Given the description of an element on the screen output the (x, y) to click on. 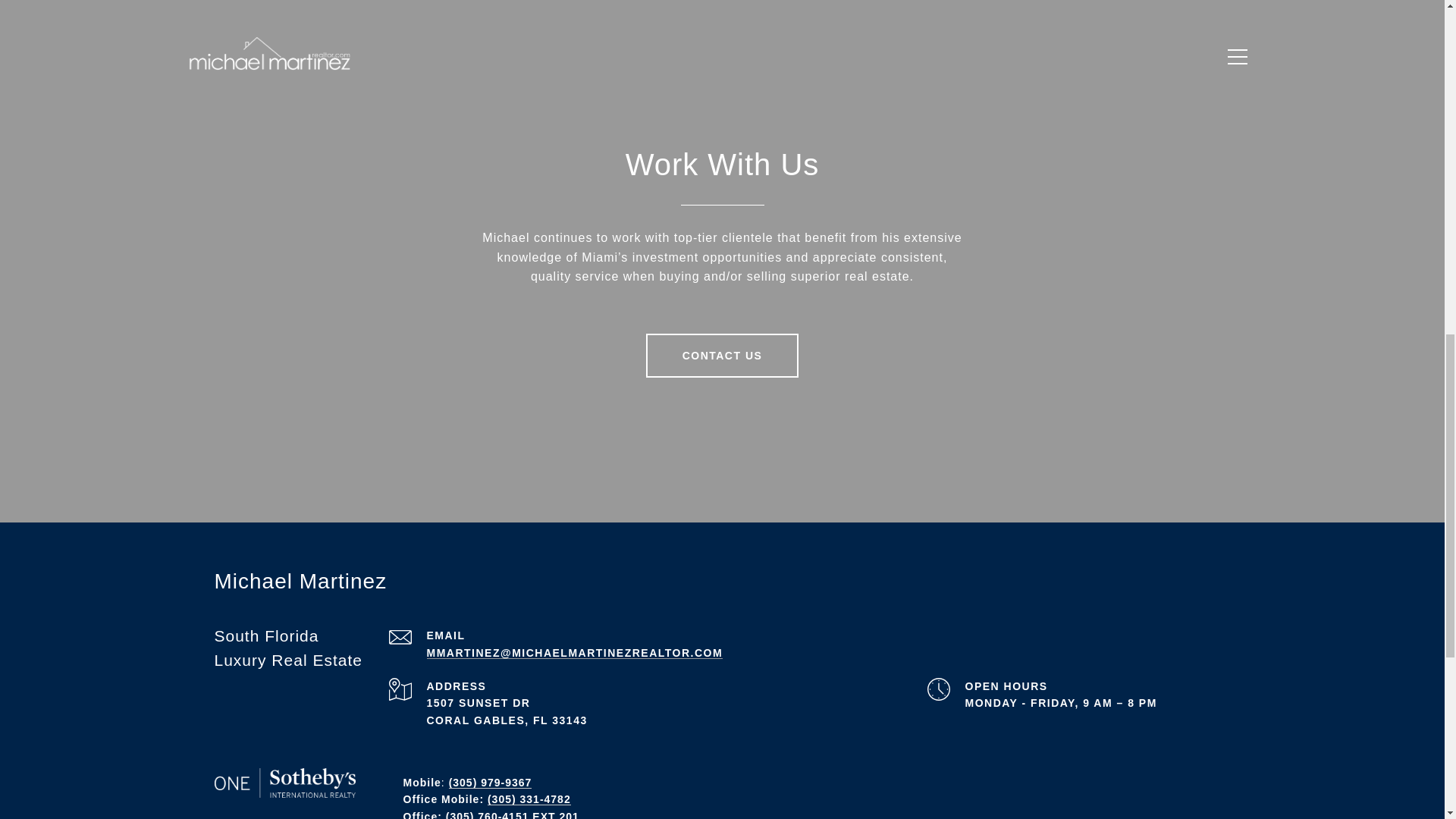
CONTACT US (722, 355)
